Given the description of an element on the screen output the (x, y) to click on. 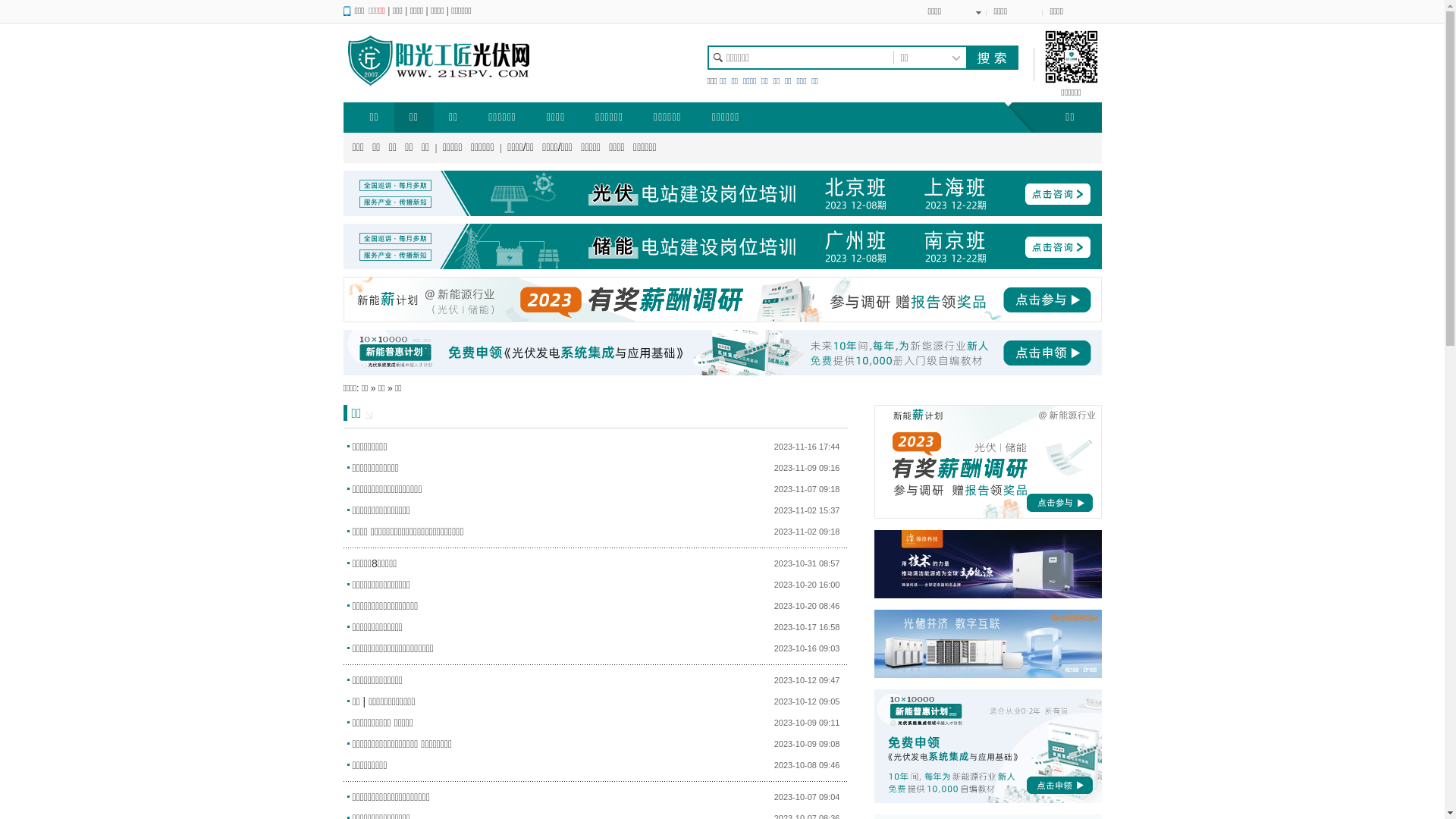
  Element type: text (990, 57)
